Given the description of an element on the screen output the (x, y) to click on. 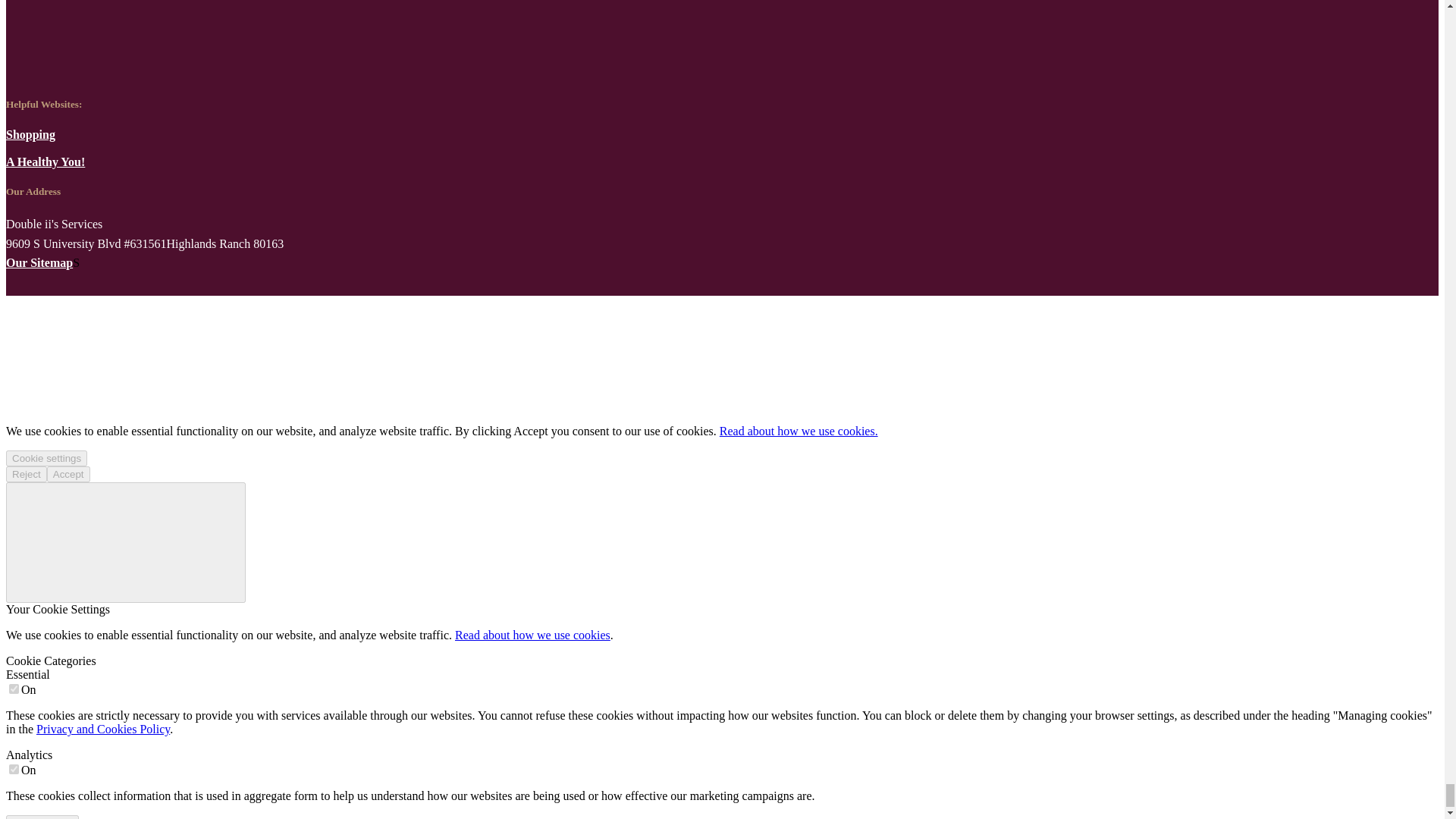
on (13, 768)
Our Sitemap (38, 262)
Shopping (30, 133)
Read about how we use cookies. (798, 431)
Read about how we use cookies (532, 634)
on (13, 688)
Cookie settings (46, 458)
A Healthy You! (44, 161)
Accept (68, 474)
Privacy and Cookies Policy (103, 728)
Reject (25, 474)
